Given the description of an element on the screen output the (x, y) to click on. 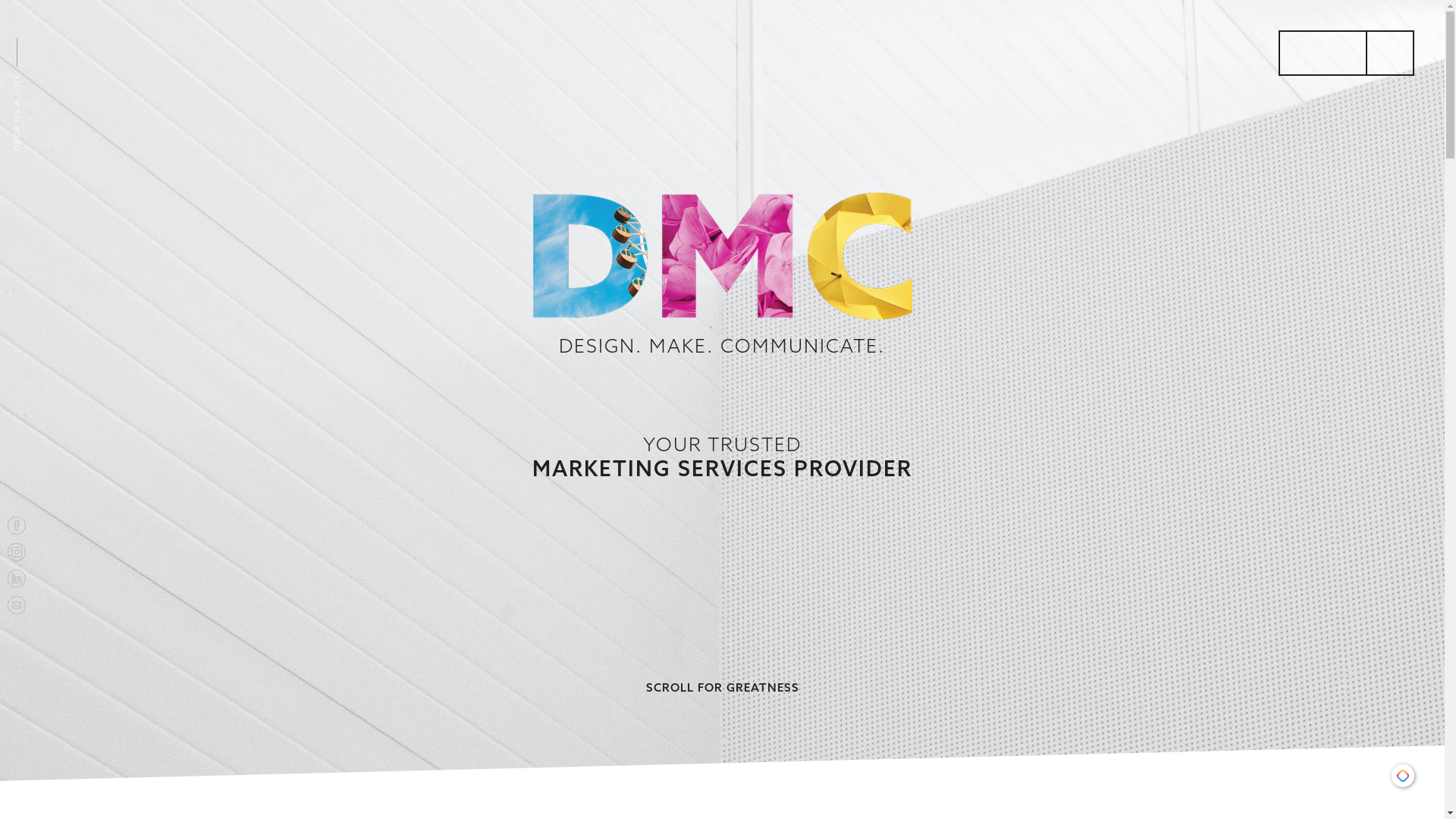
DROP US A LINE Element type: text (16, 86)
